Given the description of an element on the screen output the (x, y) to click on. 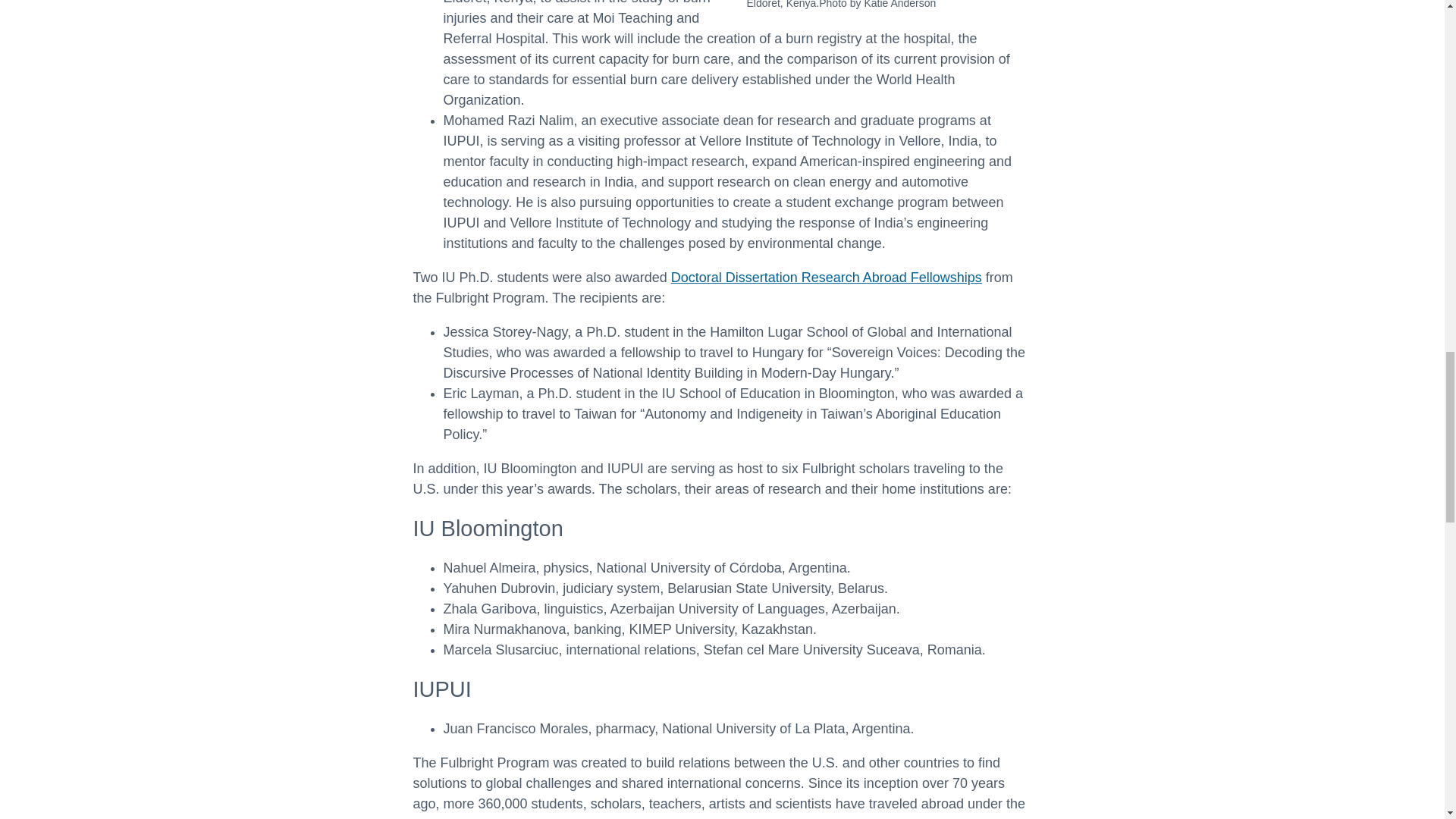
Doctoral Dissertation Research Abroad Fellowships (826, 277)
